Given the description of an element on the screen output the (x, y) to click on. 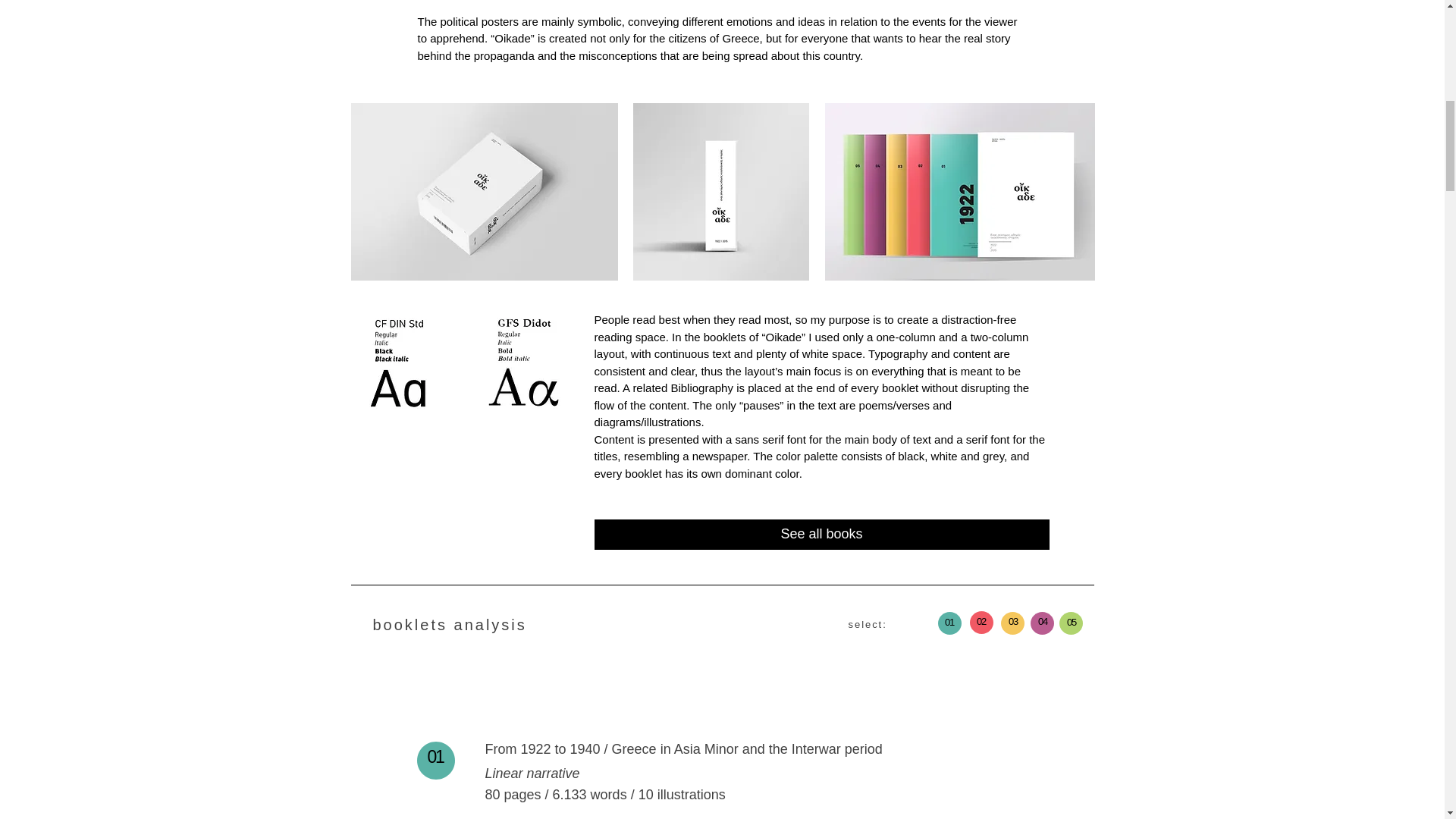
See all books (821, 534)
